Given the description of an element on the screen output the (x, y) to click on. 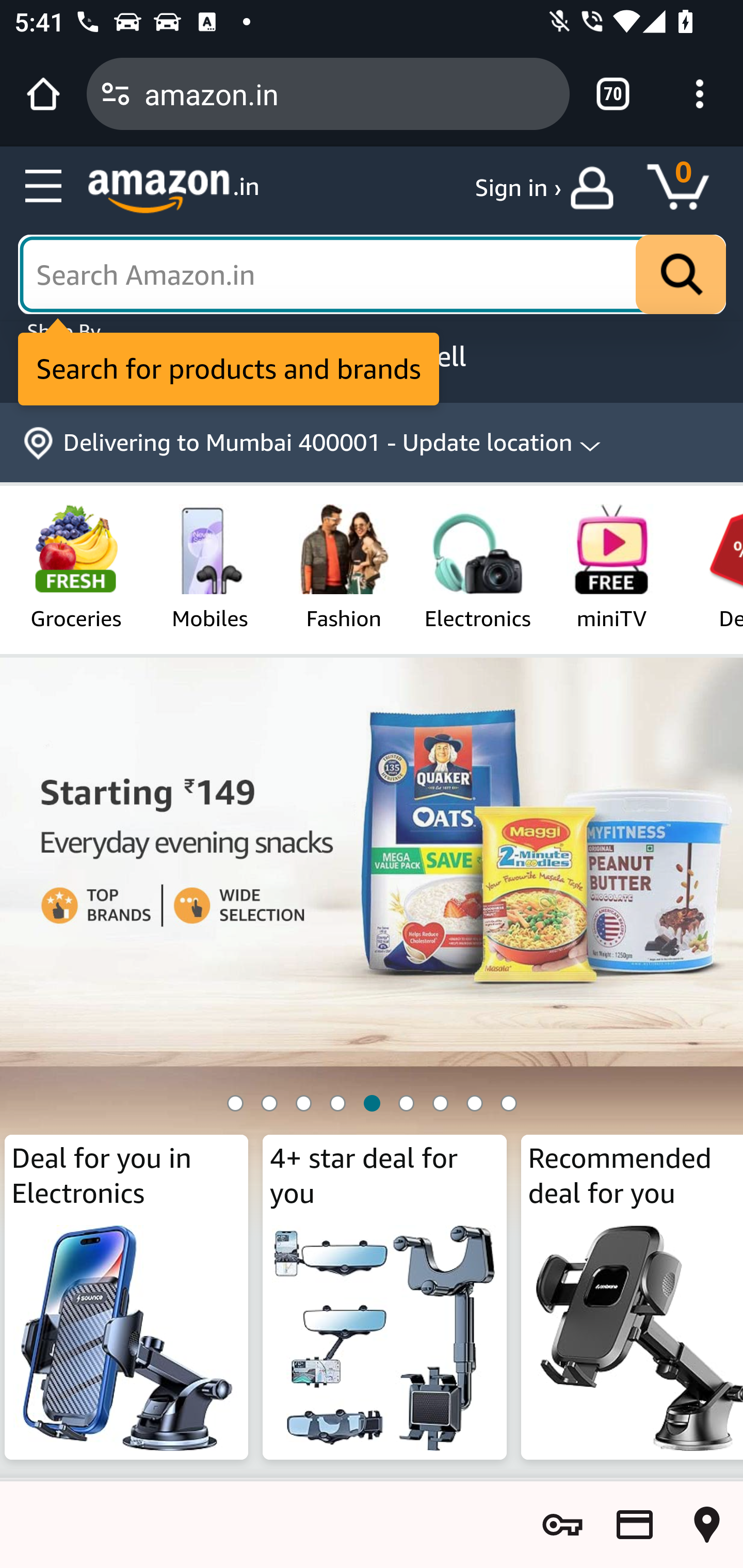
Open the home page (43, 93)
Connection is secure (115, 93)
Switch or close tabs (612, 93)
Customize and control Google Chrome (699, 93)
amazon.in (349, 92)
Open Menu (44, 187)
Sign in › (518, 188)
your account (596, 188)
Cart 0 (687, 188)
Amazon.in .in (173, 191)
Go (681, 275)
Groceries Groceries Groceries Groceries (75, 566)
Mobiles Mobiles Mobiles Mobiles (209, 566)
Fashion Fashion Fashion Fashion (343, 566)
Electronics Electronics Electronics Electronics (477, 566)
miniTV miniTV miniTV miniTV (611, 566)
Snacks & beverages (371, 982)
Show saved passwords and password options (562, 1524)
Show saved payment methods (634, 1524)
Show saved addresses (706, 1524)
